Given the description of an element on the screen output the (x, y) to click on. 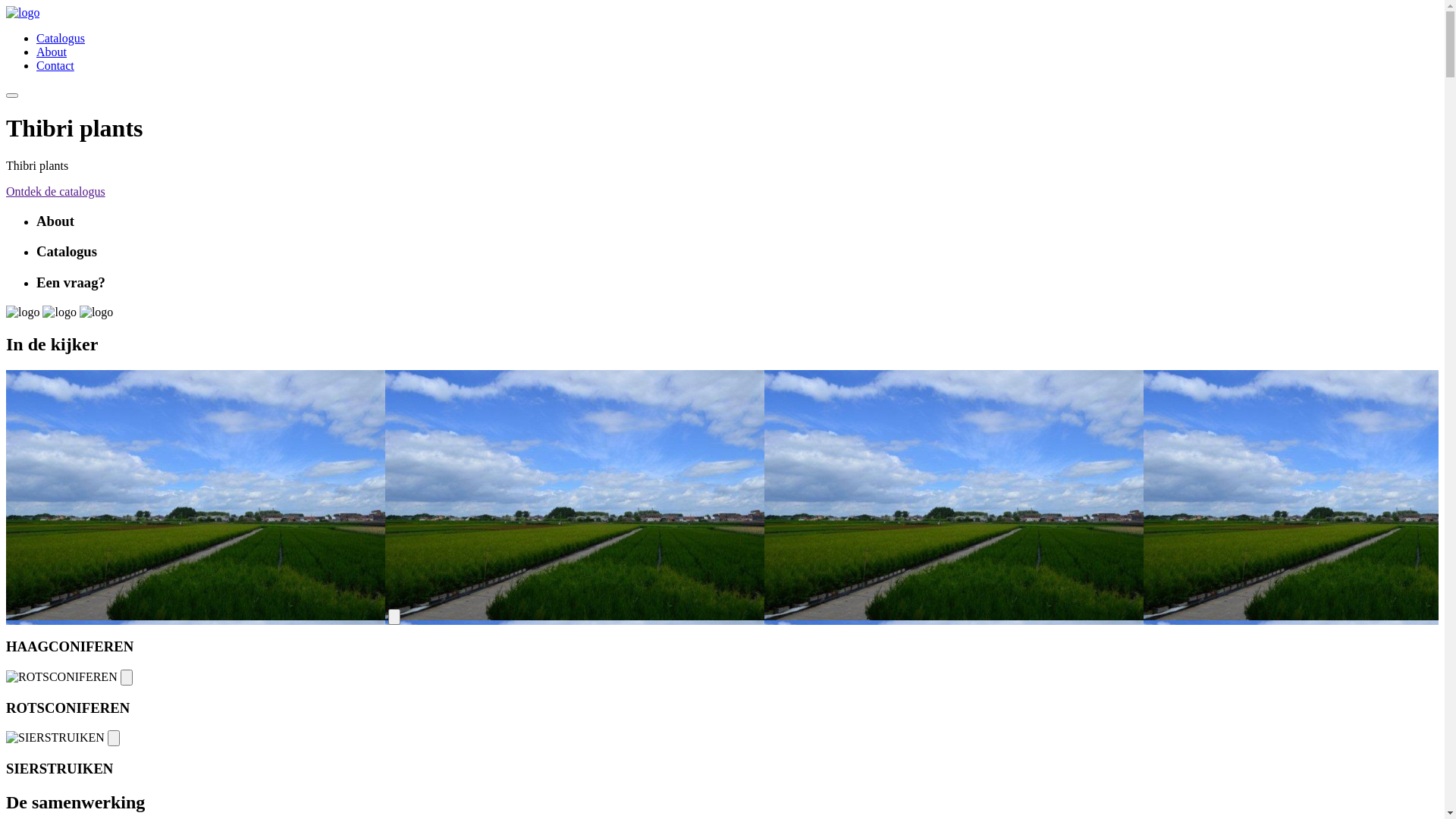
arrow-right Element type: text (394, 616)
Catalogus Element type: text (60, 37)
Ontdek de catalogus Element type: text (55, 191)
HAAGCONIFEREN Element type: hover (195, 495)
arrow-right Element type: text (126, 677)
logo Element type: hover (22, 12)
Contact Element type: text (55, 65)
SIERSTRUIKEN Element type: hover (55, 737)
logo Element type: hover (22, 312)
logo Element type: hover (95, 312)
logo Element type: hover (58, 312)
arrow-right Element type: text (113, 738)
About Element type: text (51, 51)
ROTSCONIFEREN Element type: hover (61, 677)
